Given the description of an element on the screen output the (x, y) to click on. 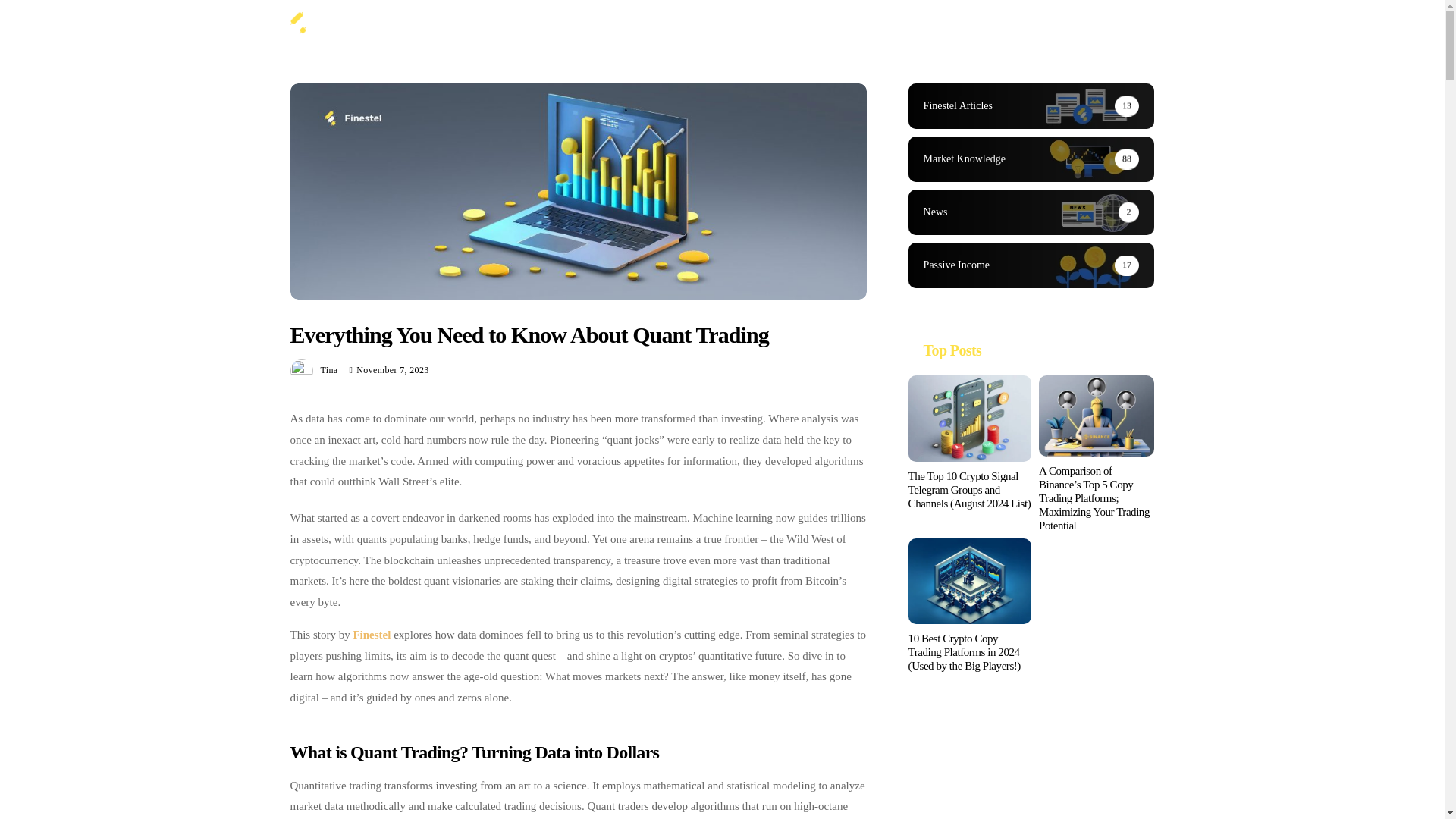
Posts by Tina (328, 369)
Contact Us (914, 22)
Copy Trading Software (617, 22)
Market Knowledge (737, 22)
Passive Income (837, 22)
